Given the description of an element on the screen output the (x, y) to click on. 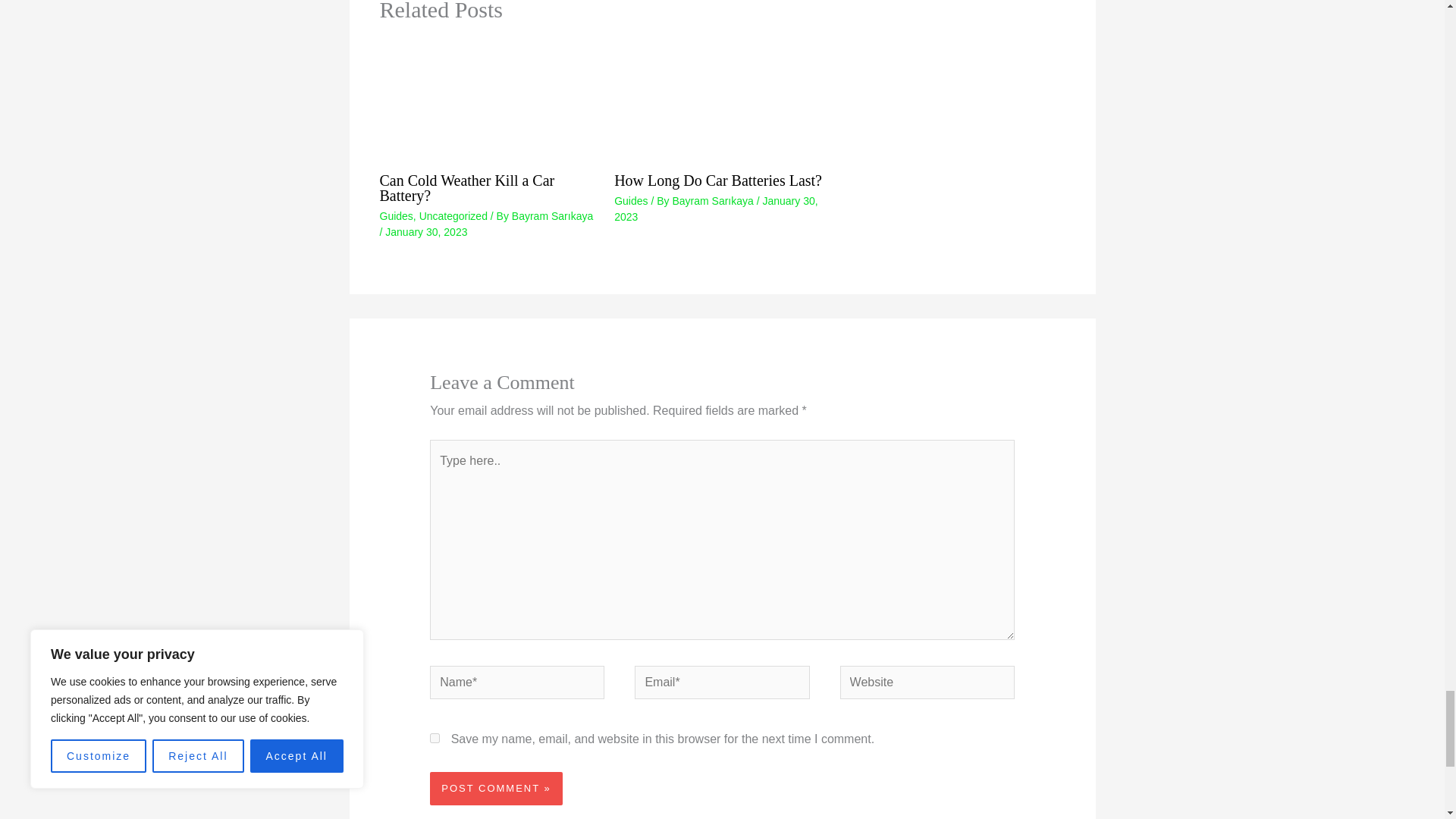
yes (434, 737)
